Given the description of an element on the screen output the (x, y) to click on. 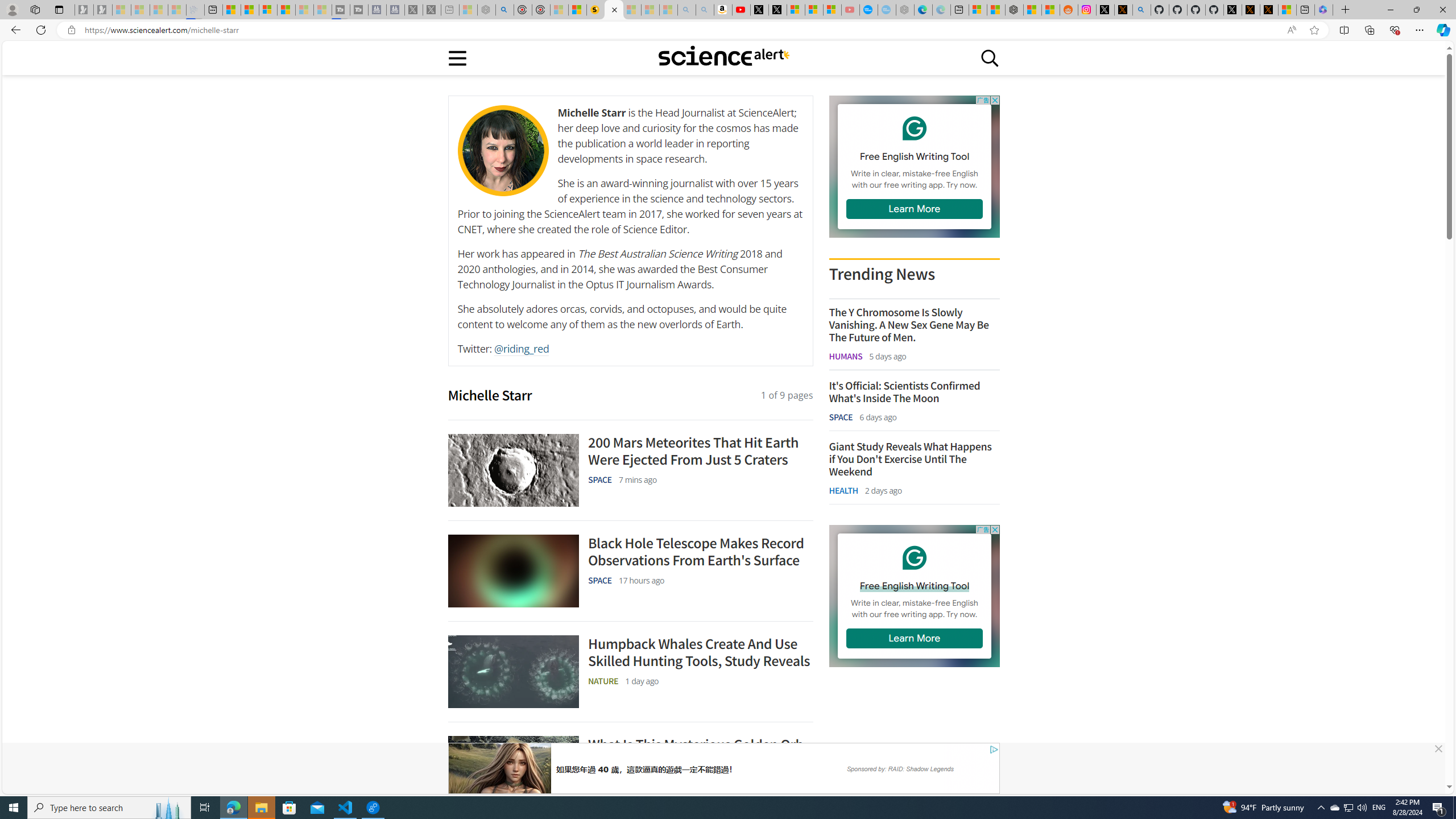
Profile / X (1232, 9)
Amazon Echo Dot PNG - Search Images - Sleeping (705, 9)
Opinion: Op-Ed and Commentary - USA TODAY (868, 9)
Gloom - YouTube - Sleeping (850, 9)
Class: sciencealert-menu-desktop-svg  (456, 57)
Newsletter Sign Up - Sleeping (102, 9)
